Given the description of an element on the screen output the (x, y) to click on. 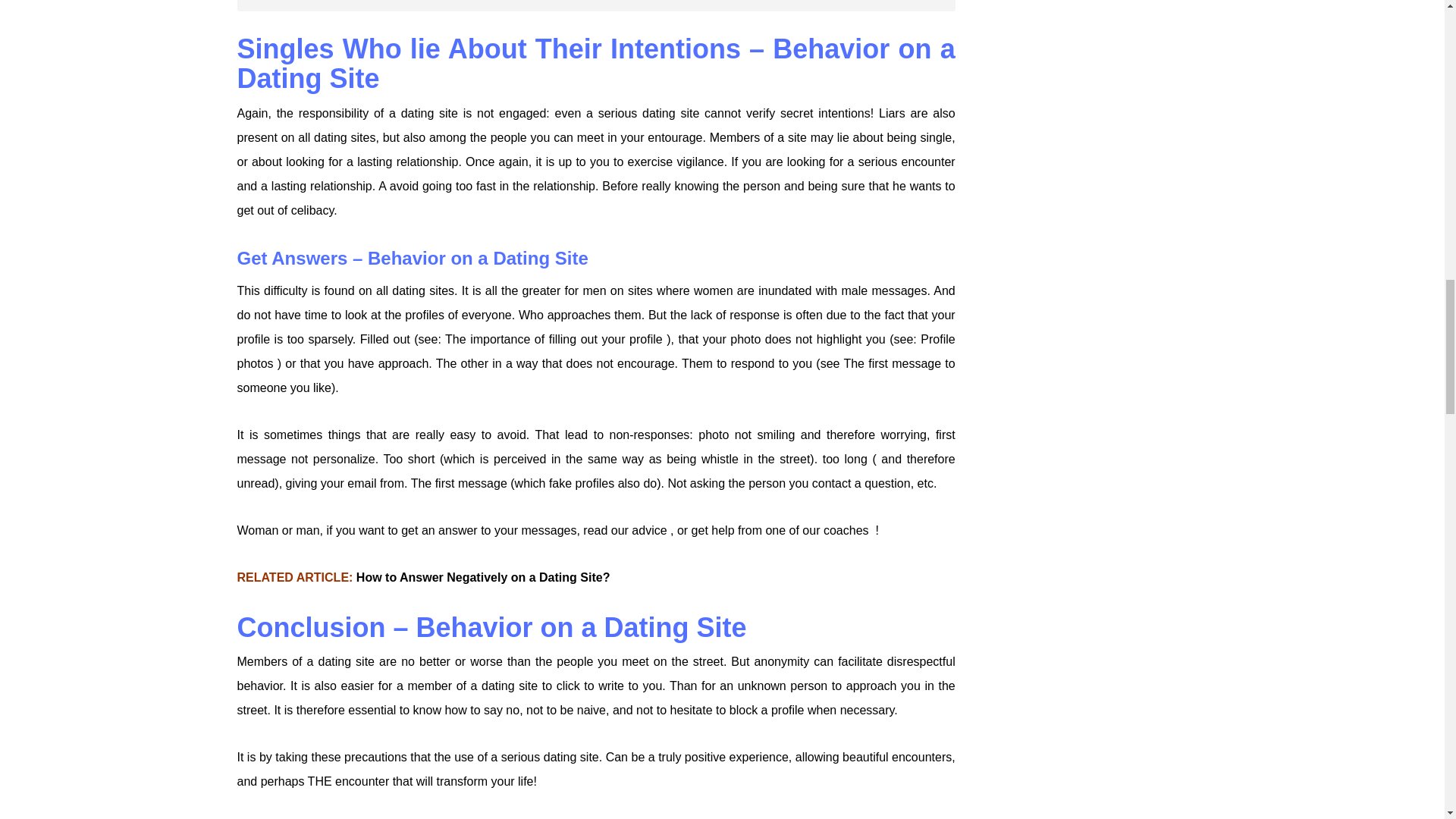
How to Answer Negatively on a Dating Site? (483, 576)
charmdatereview (595, 5)
